Given the description of an element on the screen output the (x, y) to click on. 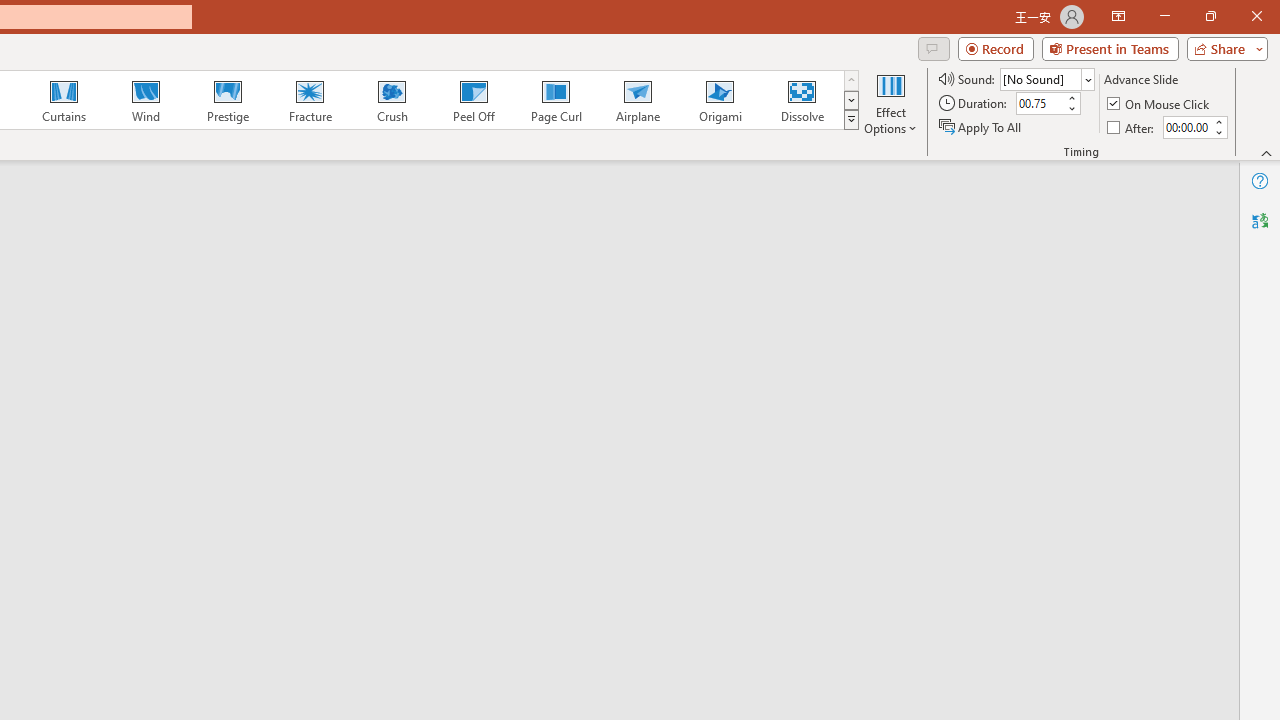
Wind (145, 100)
Fracture (309, 100)
